Given the description of an element on the screen output the (x, y) to click on. 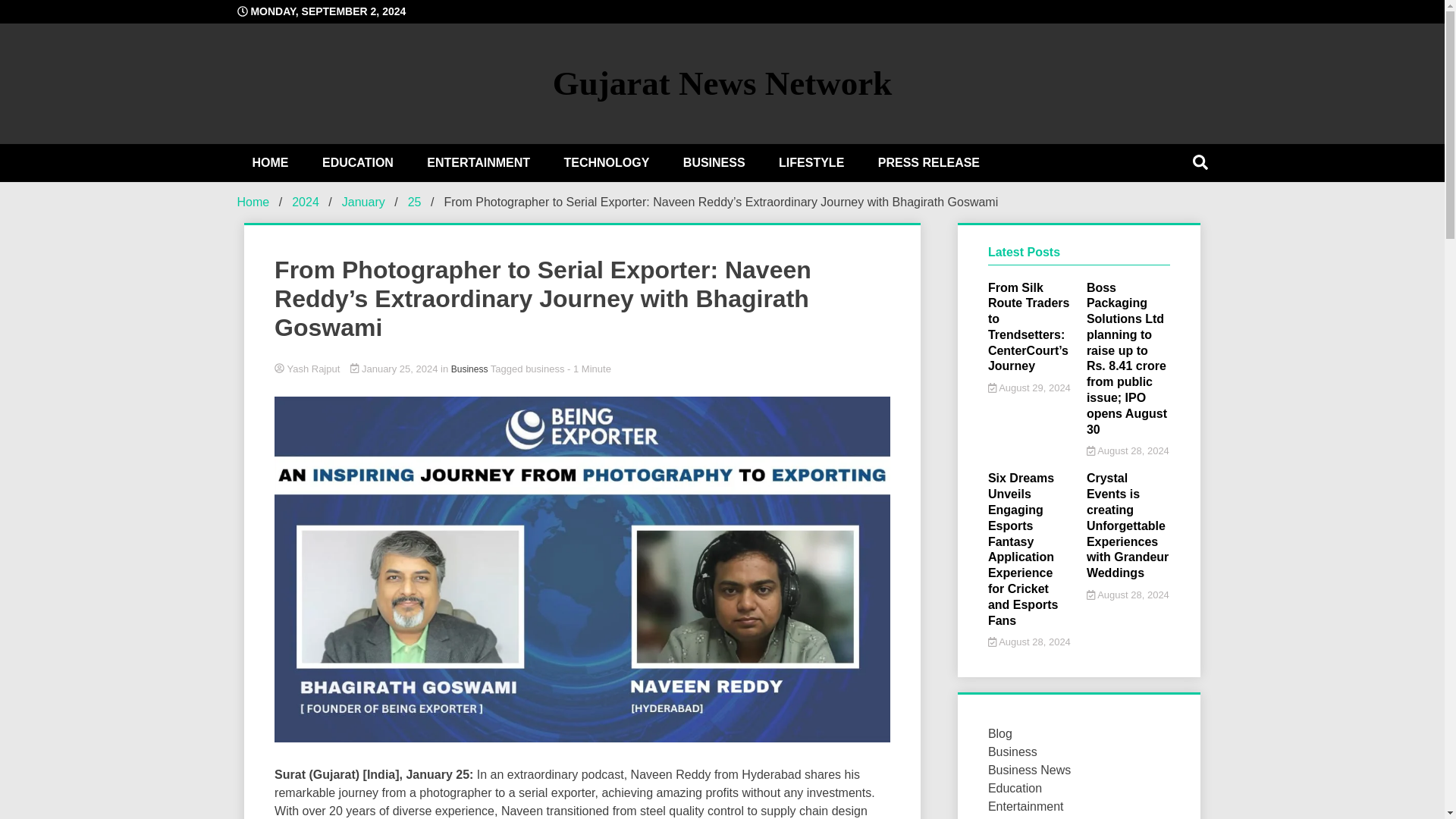
PRESS RELEASE (928, 162)
Yash Rajput (582, 369)
business (544, 368)
LIFESTYLE (810, 162)
BUSINESS (714, 162)
EDUCATION (358, 162)
Home (252, 201)
TECHNOLOGY (605, 162)
2024 (305, 201)
ENTERTAINMENT (478, 162)
